Given the description of an element on the screen output the (x, y) to click on. 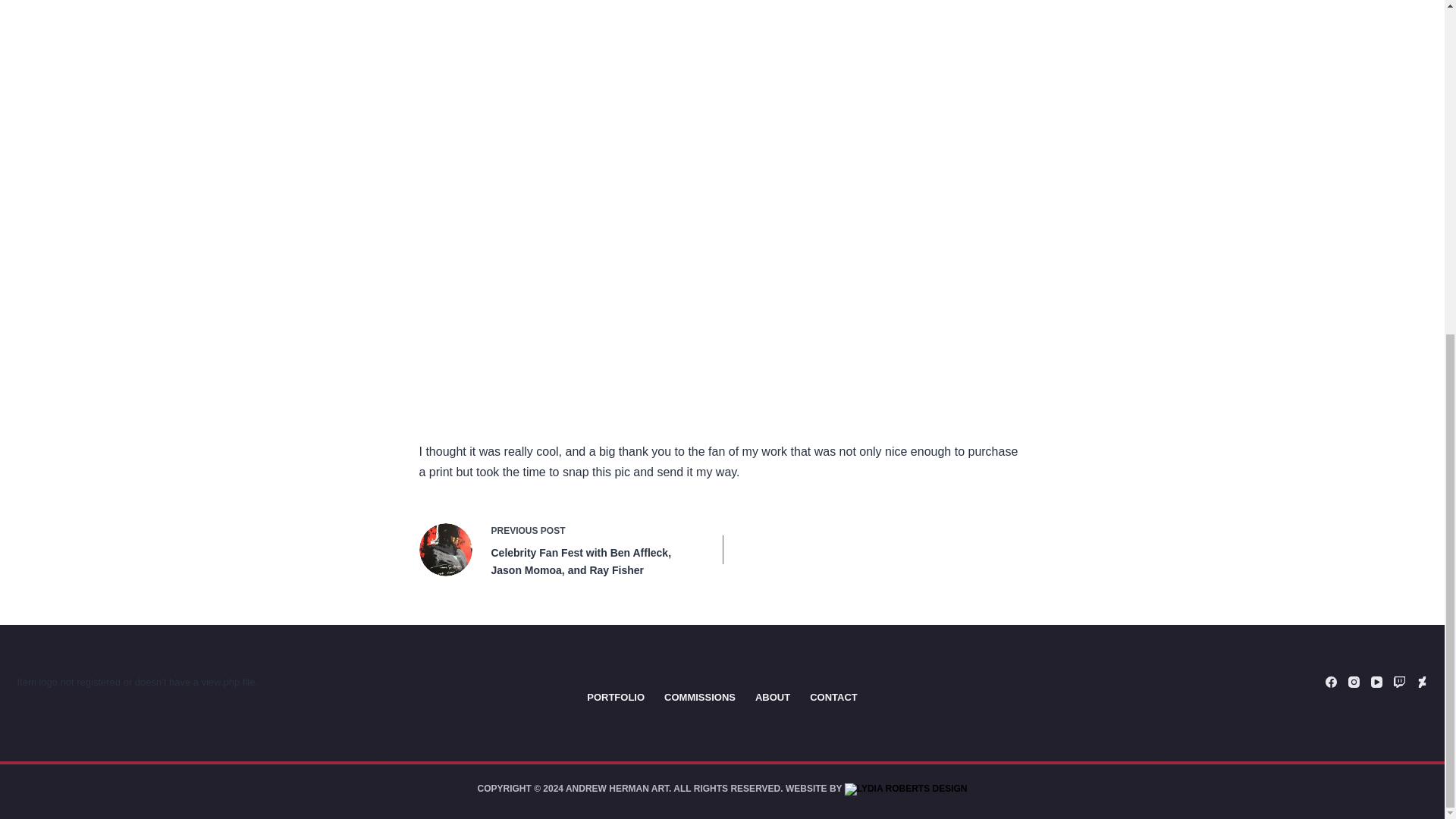
PORTFOLIO (614, 697)
